Given the description of an element on the screen output the (x, y) to click on. 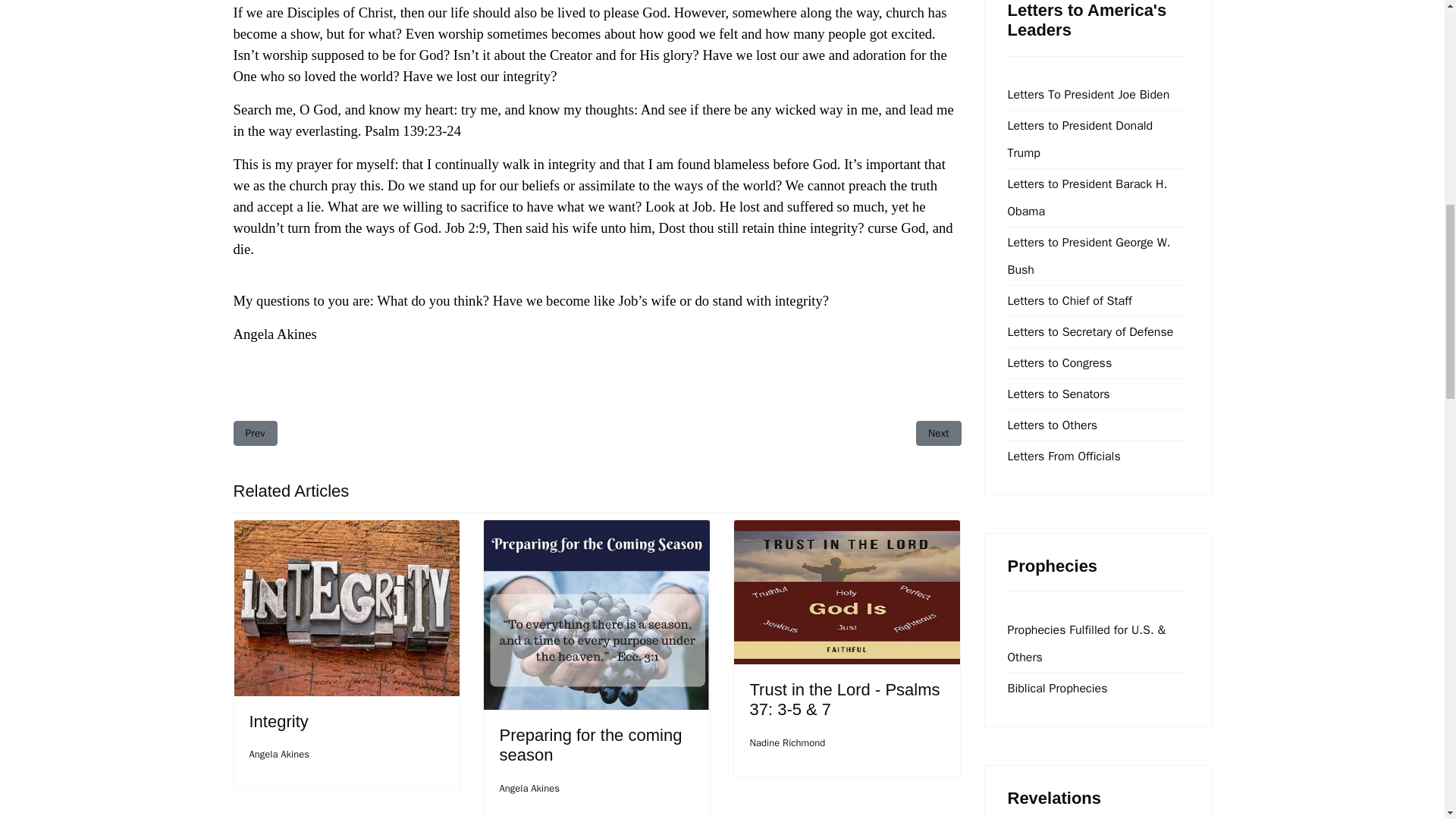
Integrity (277, 721)
Written by: Angela Akines (529, 788)
Written by: Nadine Richmond (255, 432)
Preparing for the coming season (787, 743)
Written by: Angela Akines (590, 744)
